Given the description of an element on the screen output the (x, y) to click on. 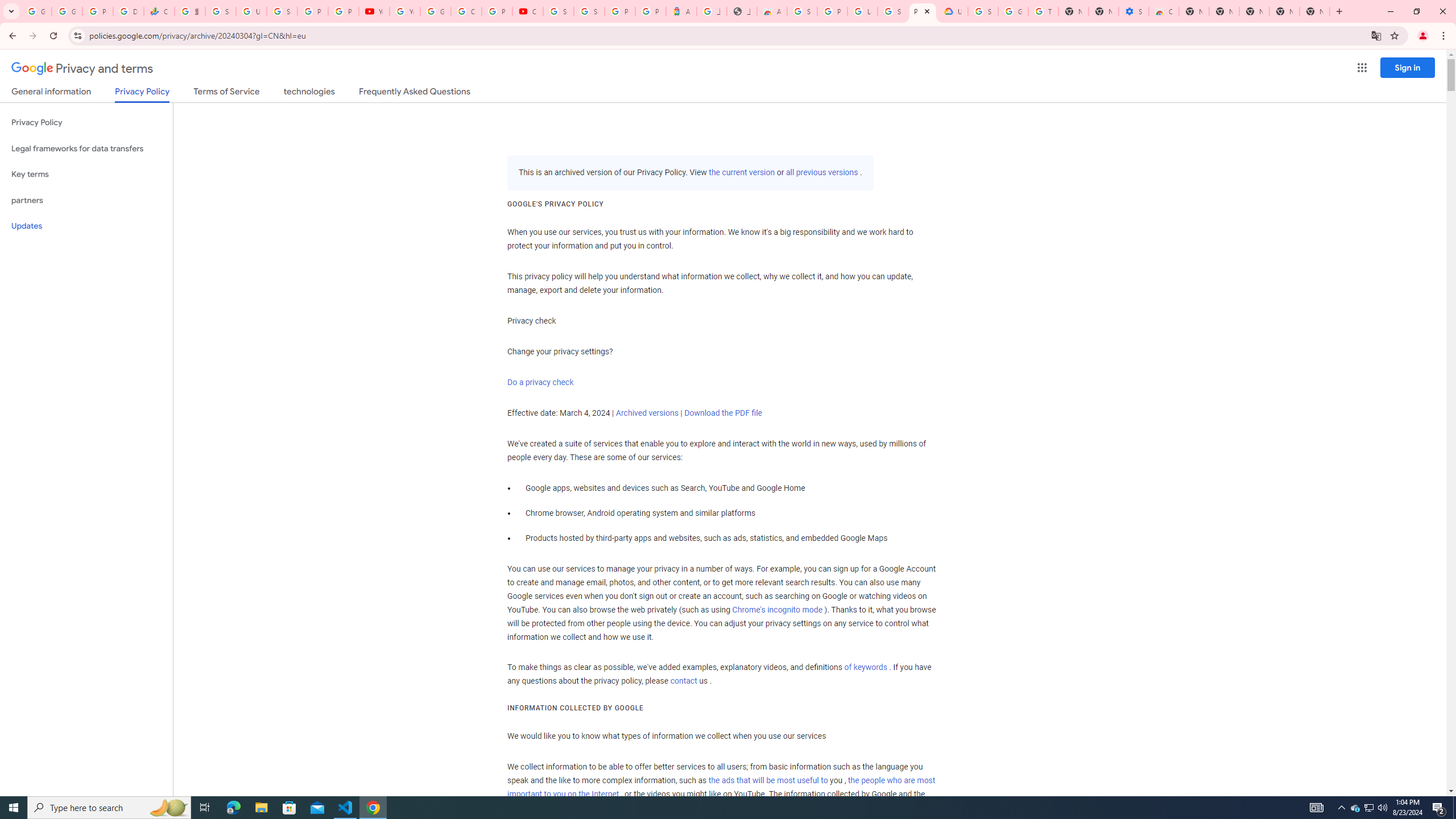
Google Apps (1362, 67)
Sign in - Google Accounts (589, 11)
Google Account Help (434, 11)
Turn cookies on or off - Computer - Google Account Help (1042, 11)
Settings - Accessibility (1133, 11)
